Given the description of an element on the screen output the (x, y) to click on. 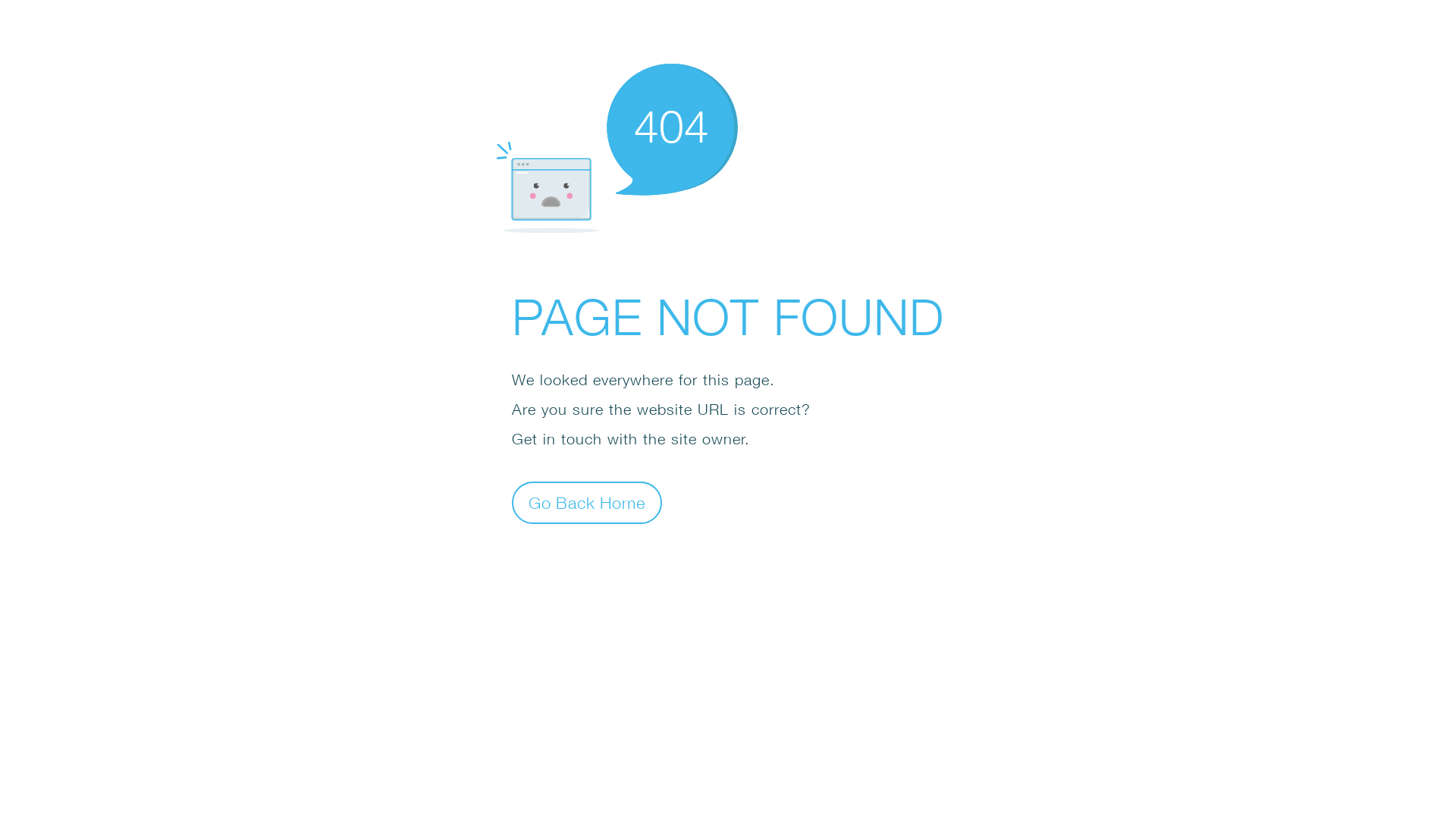
Go Back Home Element type: text (586, 502)
